Given the description of an element on the screen output the (x, y) to click on. 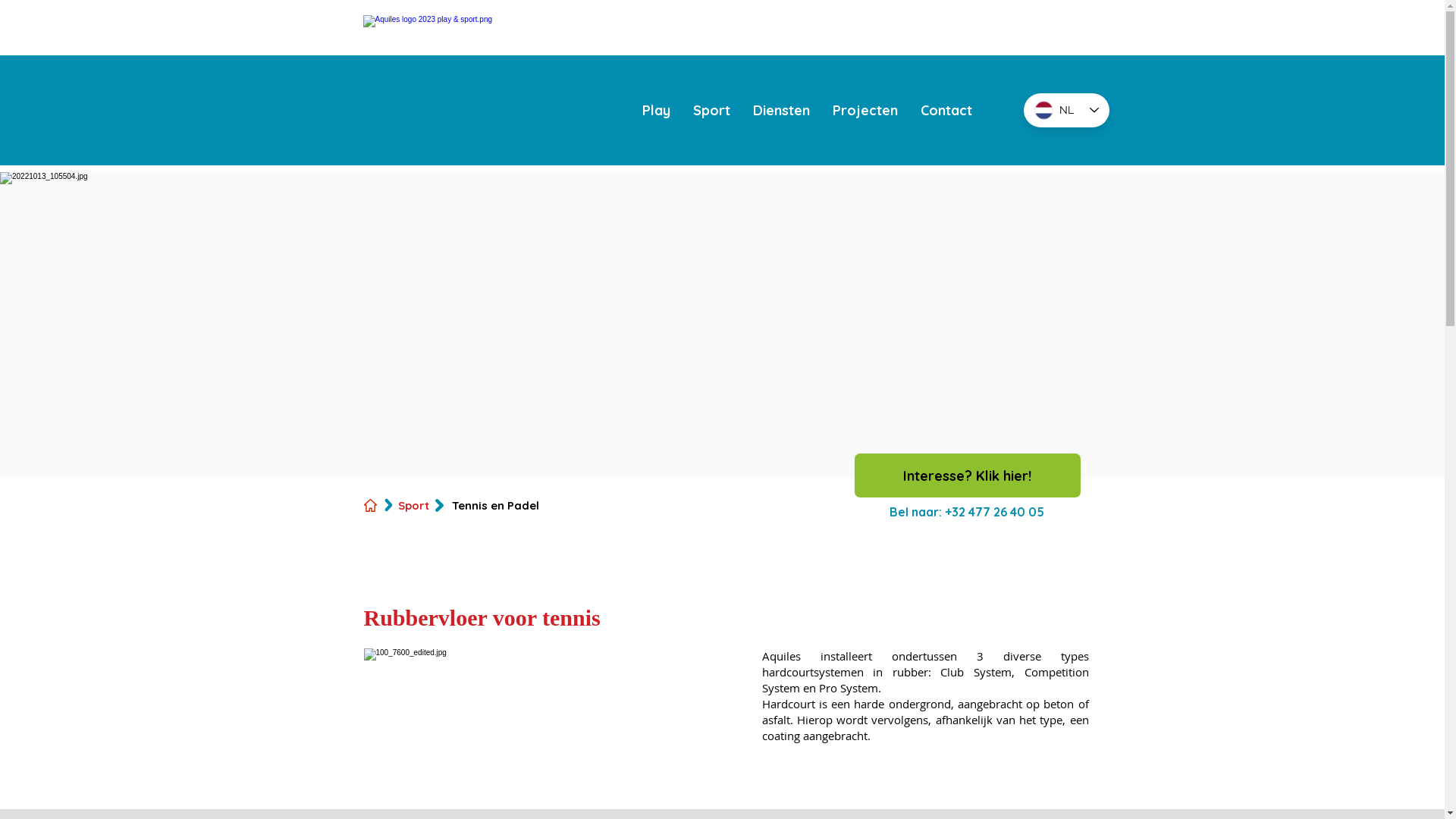
Interesse? Klik hier! Element type: text (966, 475)
Sport Element type: text (711, 110)
Diensten Element type: text (781, 110)
Play Element type: text (655, 110)
Contact Element type: text (946, 110)
Bel naar: +32 477 26 40 05 Element type: text (966, 512)
Sport Element type: text (412, 504)
Projecten Element type: text (865, 110)
